Given the description of an element on the screen output the (x, y) to click on. 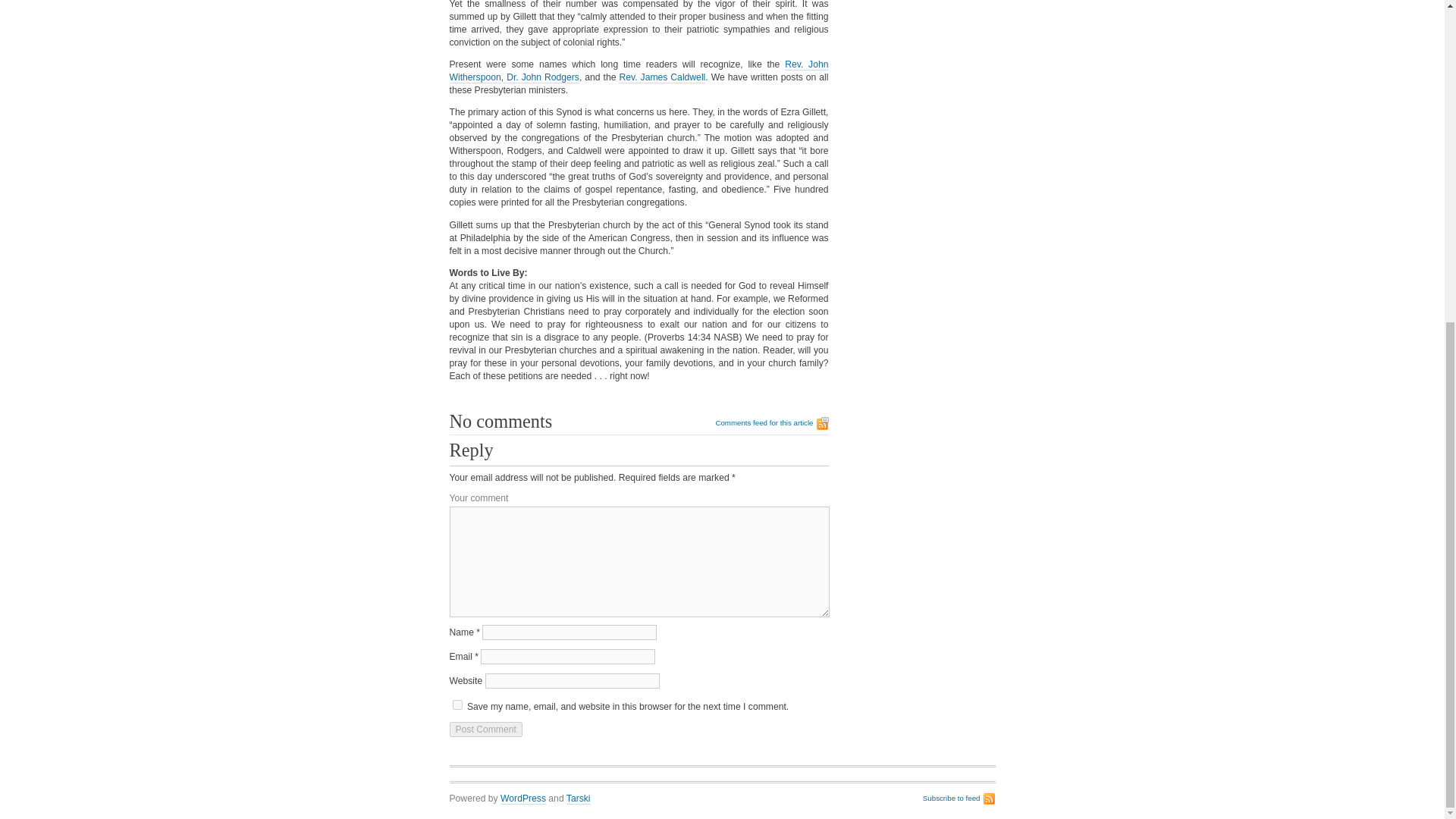
Rev. James Caldwell (661, 77)
Dr. John Rodgers (541, 77)
Subscribe to feed (959, 798)
Tarski (578, 798)
Comments feed for this article (771, 423)
Post Comment (484, 729)
WordPress (523, 798)
Rev. John Witherspoon (638, 70)
yes (456, 705)
Post Comment (484, 729)
